Given the description of an element on the screen output the (x, y) to click on. 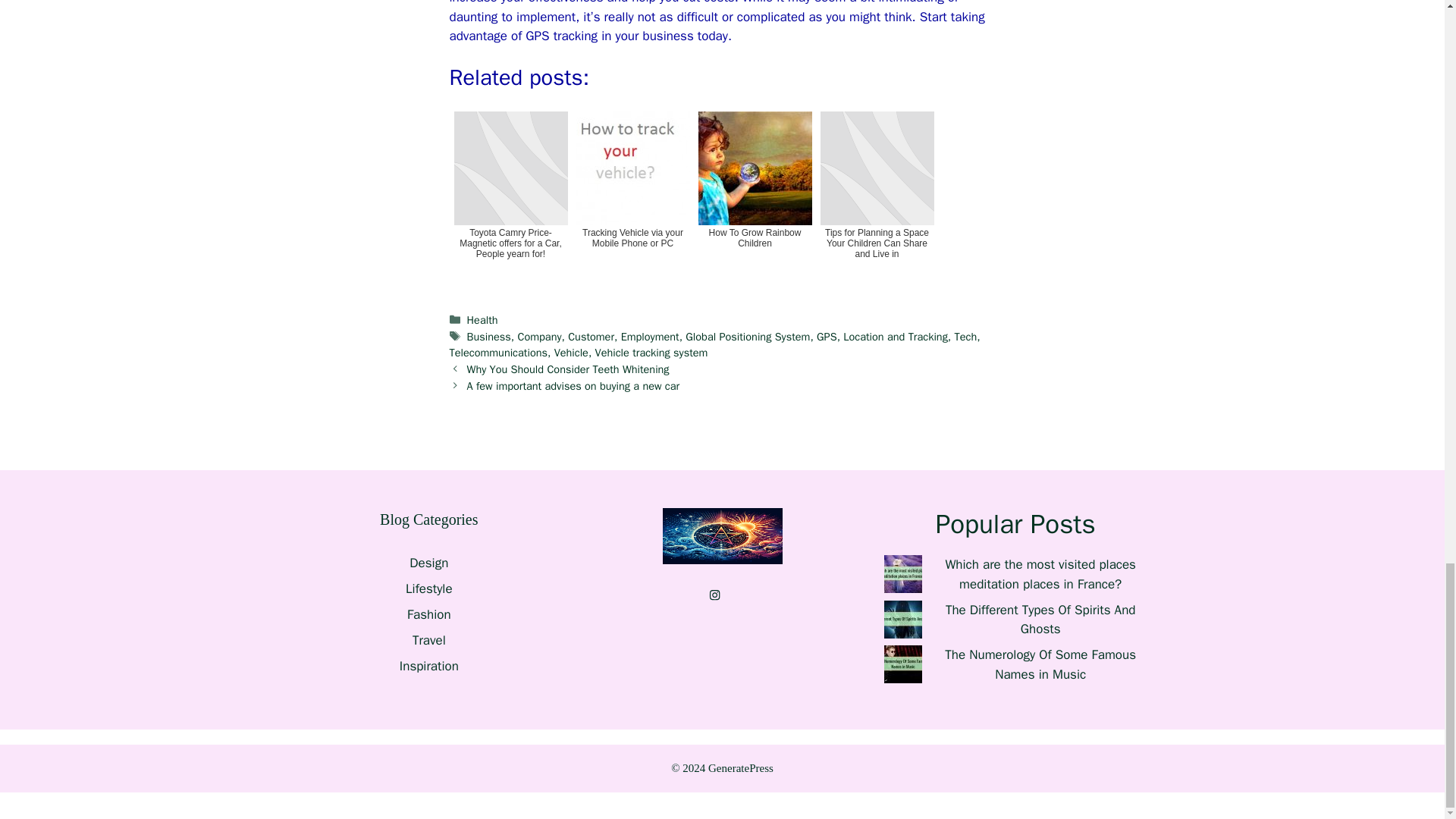
Global Positioning System (747, 336)
Telecommunications (497, 352)
Health (482, 319)
Employment (650, 336)
Tech (965, 336)
GPS (826, 336)
Vehicle (571, 352)
Why You Should Consider Teeth Whitening (568, 368)
A few important advises on buying a new car (573, 386)
Company (540, 336)
